Given the description of an element on the screen output the (x, y) to click on. 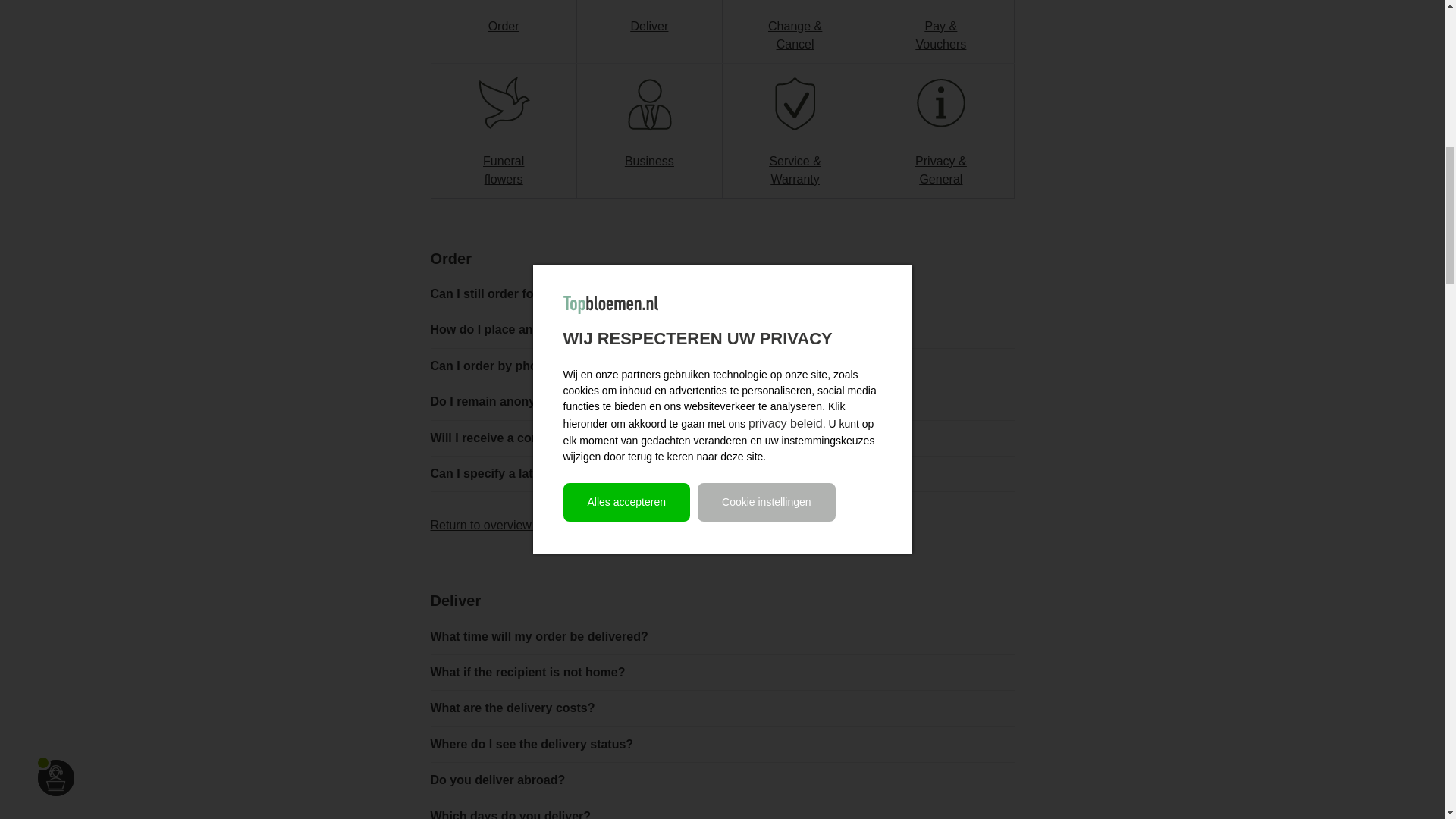
Verder zoeken (485, 524)
